Given the description of an element on the screen output the (x, y) to click on. 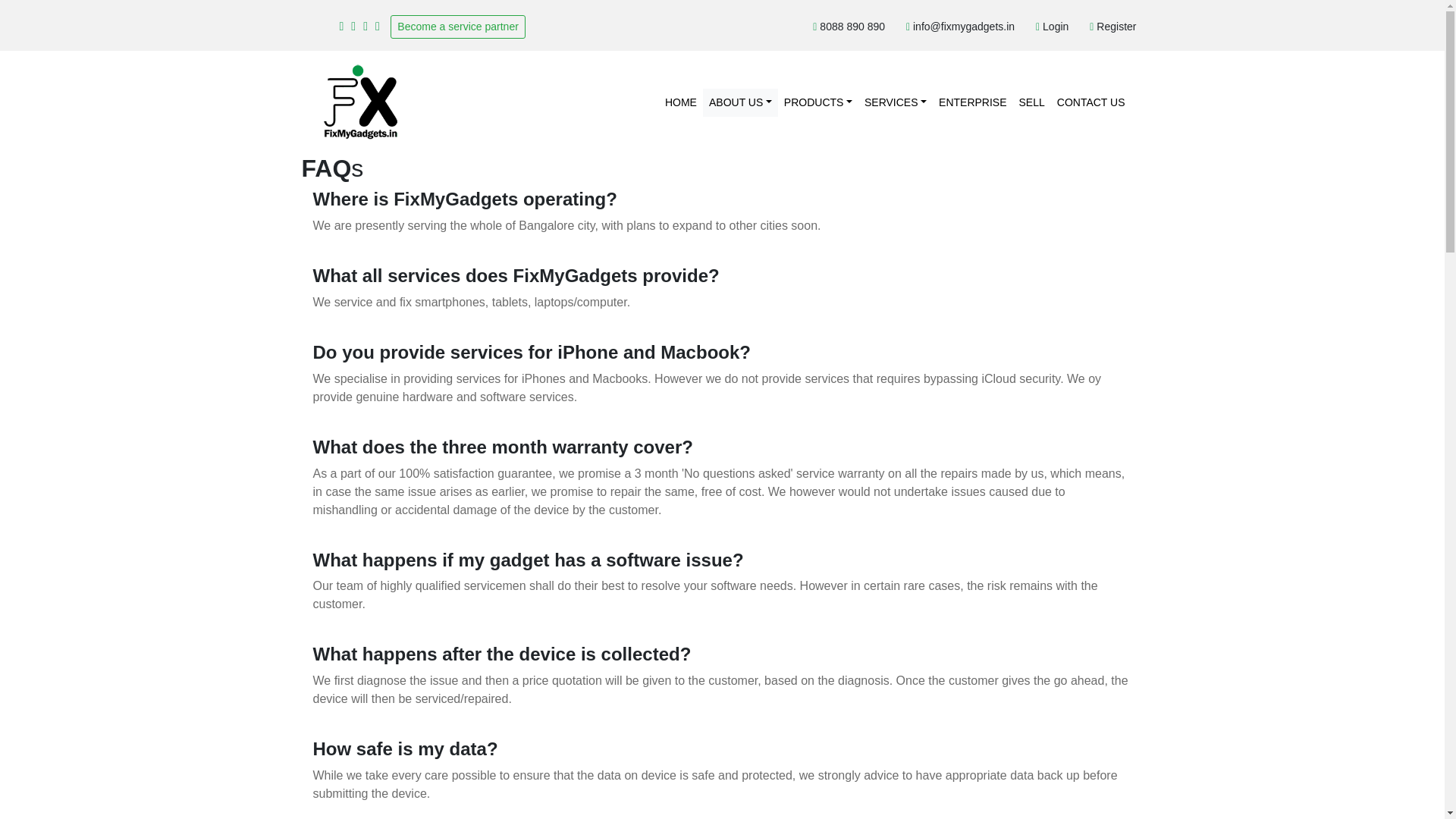
facebook (341, 25)
instagram (377, 25)
Login (1052, 26)
8088 890 890 (848, 26)
Register (1112, 26)
twitter (365, 25)
Login (1052, 26)
ABOUT US (740, 101)
SERVICES (896, 101)
linkedin (352, 25)
8088 890 890 (848, 26)
PRODUCTS (818, 101)
Become a service partner (457, 26)
Register (1112, 26)
